Given the description of an element on the screen output the (x, y) to click on. 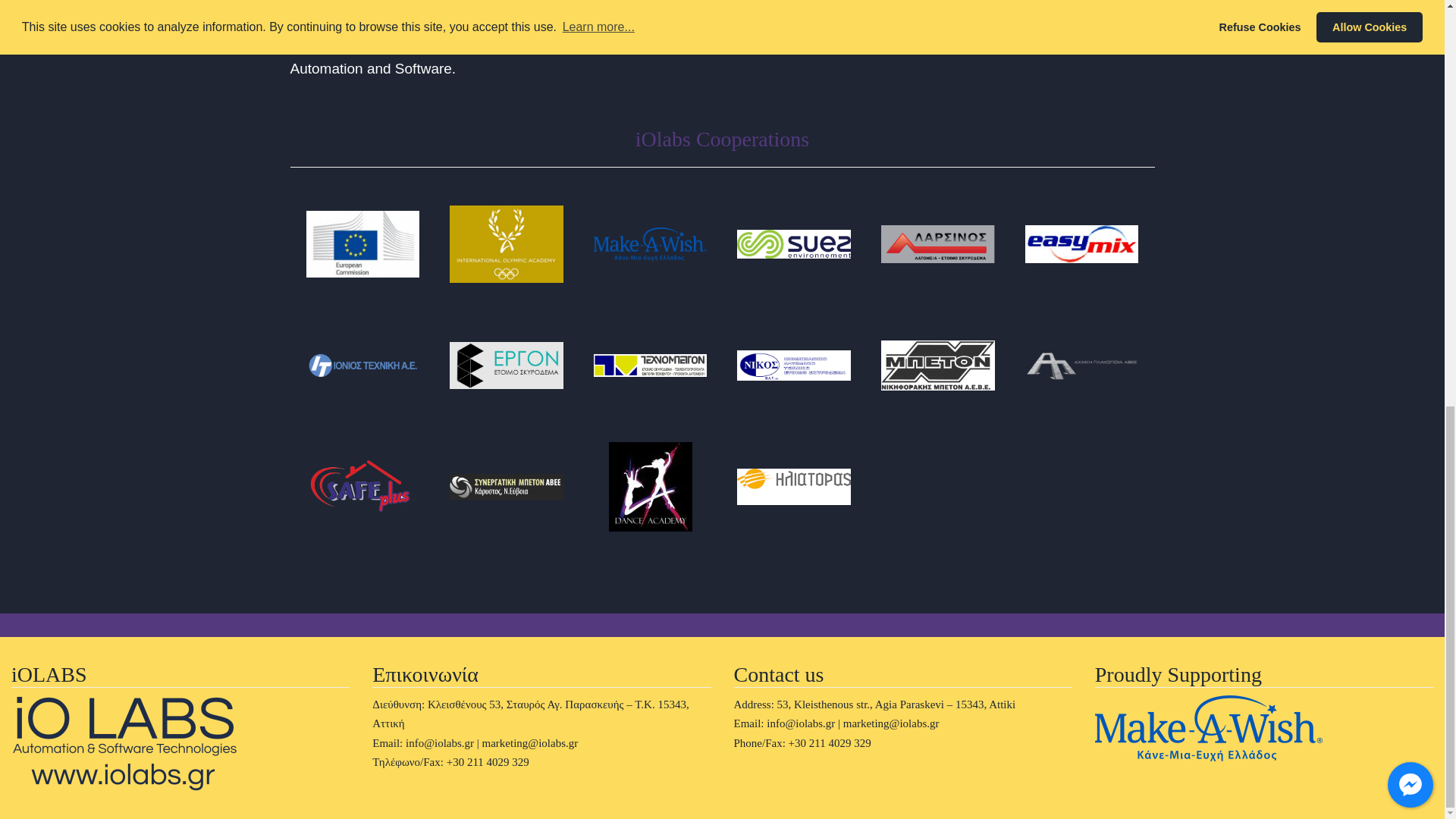
Proudly Supporting (1208, 728)
iOLABS (124, 743)
